Given the description of an element on the screen output the (x, y) to click on. 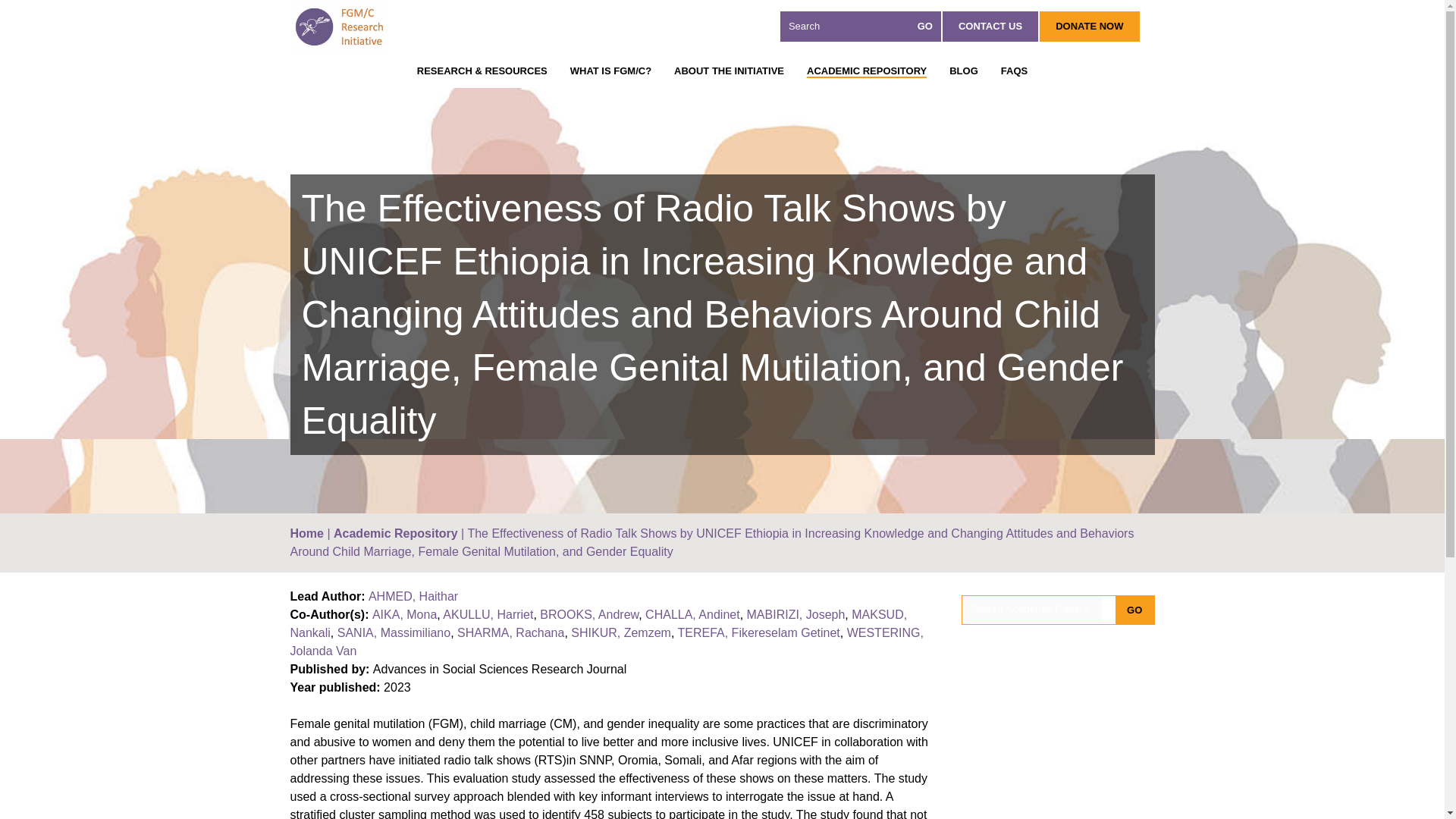
BLOG (963, 70)
ABOUT THE INITIATIVE (729, 70)
MABIRIZI, Joseph (795, 614)
BROOKS, Andrew (589, 614)
GO (1134, 610)
ACADEMIC REPOSITORY (866, 71)
FAQS (1014, 70)
AKULLU, Harriet (487, 614)
DONATE NOW (1088, 26)
AIKA, Mona (404, 614)
